Given the description of an element on the screen output the (x, y) to click on. 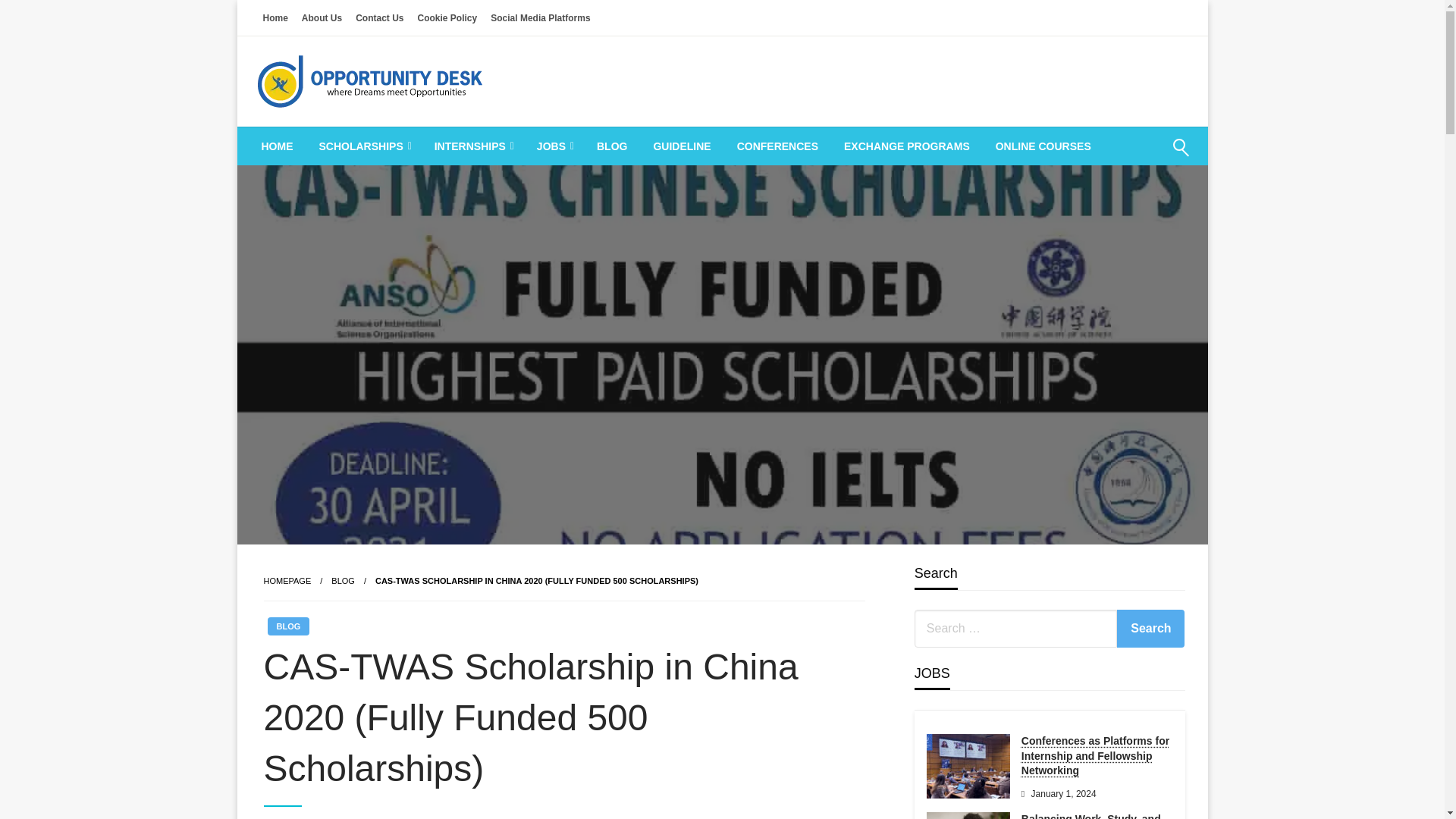
Contact Us (379, 17)
HOME (276, 146)
Opportunity Desk (373, 145)
Search (1150, 628)
Search (1144, 157)
Home (275, 17)
EXCHANGE PROGRAMS (906, 146)
JOBS (553, 146)
GUIDELINE (681, 146)
INTERNSHIPS (473, 146)
